Given the description of an element on the screen output the (x, y) to click on. 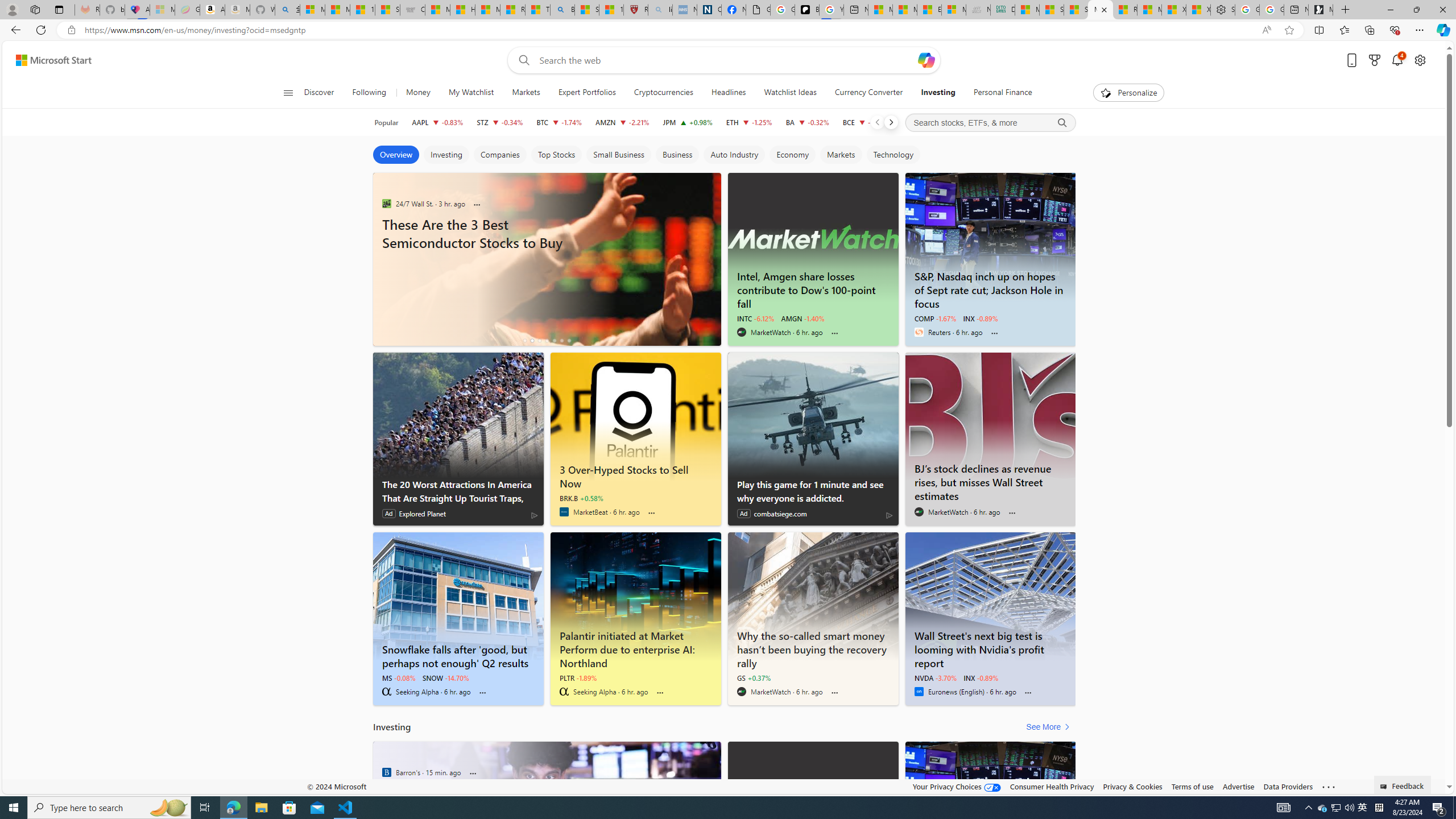
PLTR -1.89% (577, 677)
Personal Finance (1002, 92)
Euronews (English) (918, 691)
MarketWatch (740, 691)
